Given the description of an element on the screen output the (x, y) to click on. 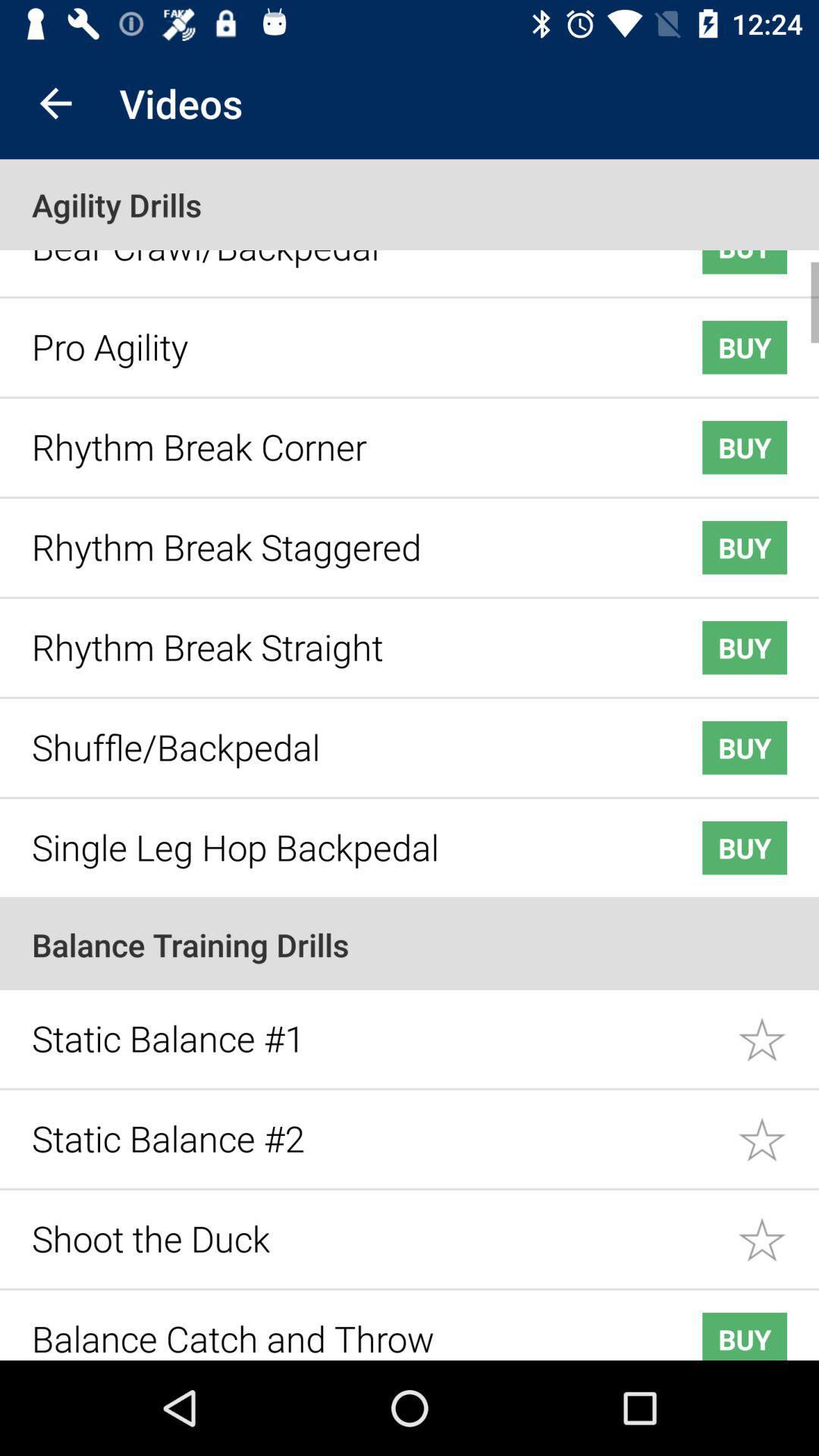
press shoot the duck icon (376, 1227)
